Given the description of an element on the screen output the (x, y) to click on. 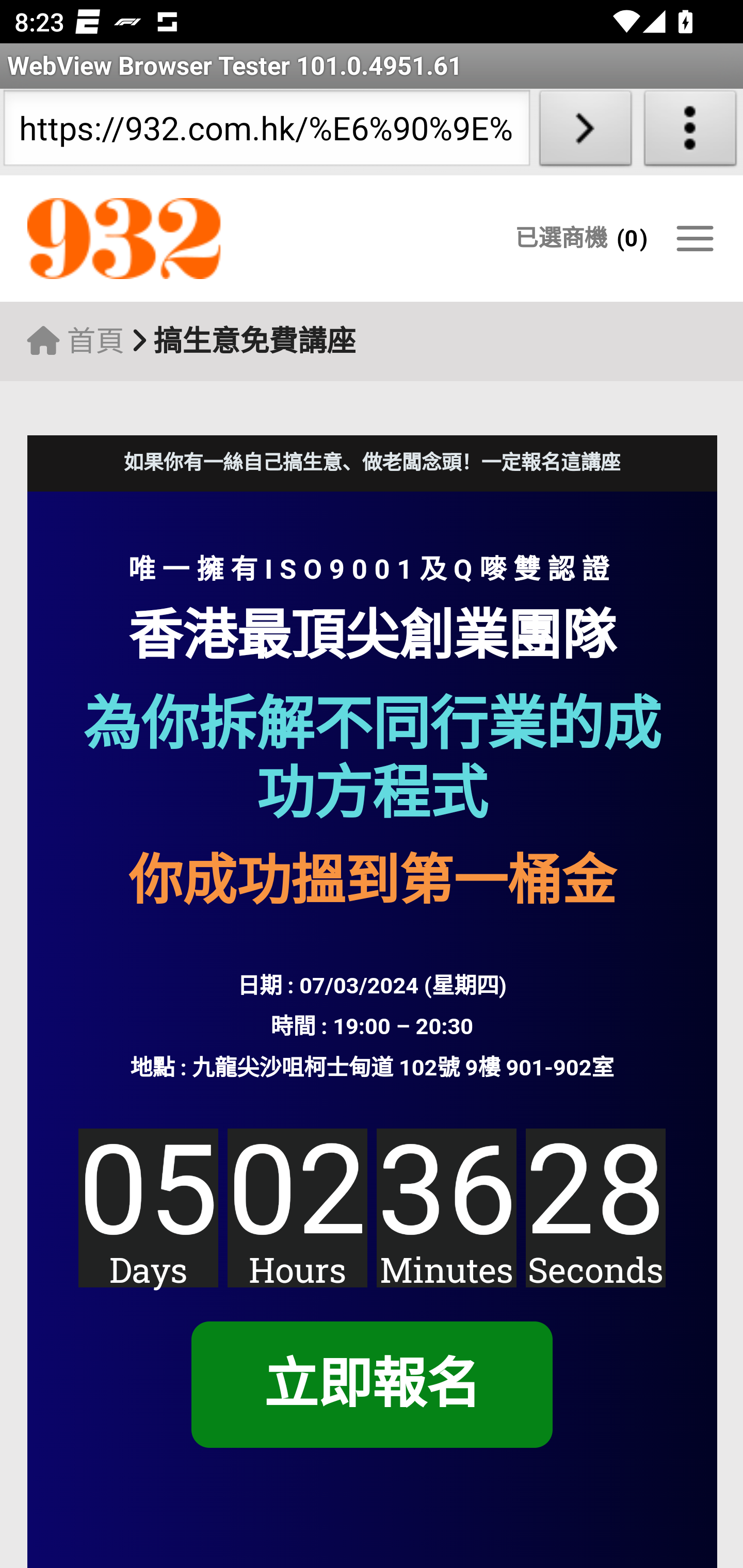
Load URL (585, 132)
About WebView (690, 132)
已選商機 ( 0 ) 已選商機 ( 0 ) (580, 237)
Menu  (694, 237)
932香港生意轉讓平台 (207, 238)
 首頁   首頁 (75, 341)
立即報名 (370, 1385)
